Given the description of an element on the screen output the (x, y) to click on. 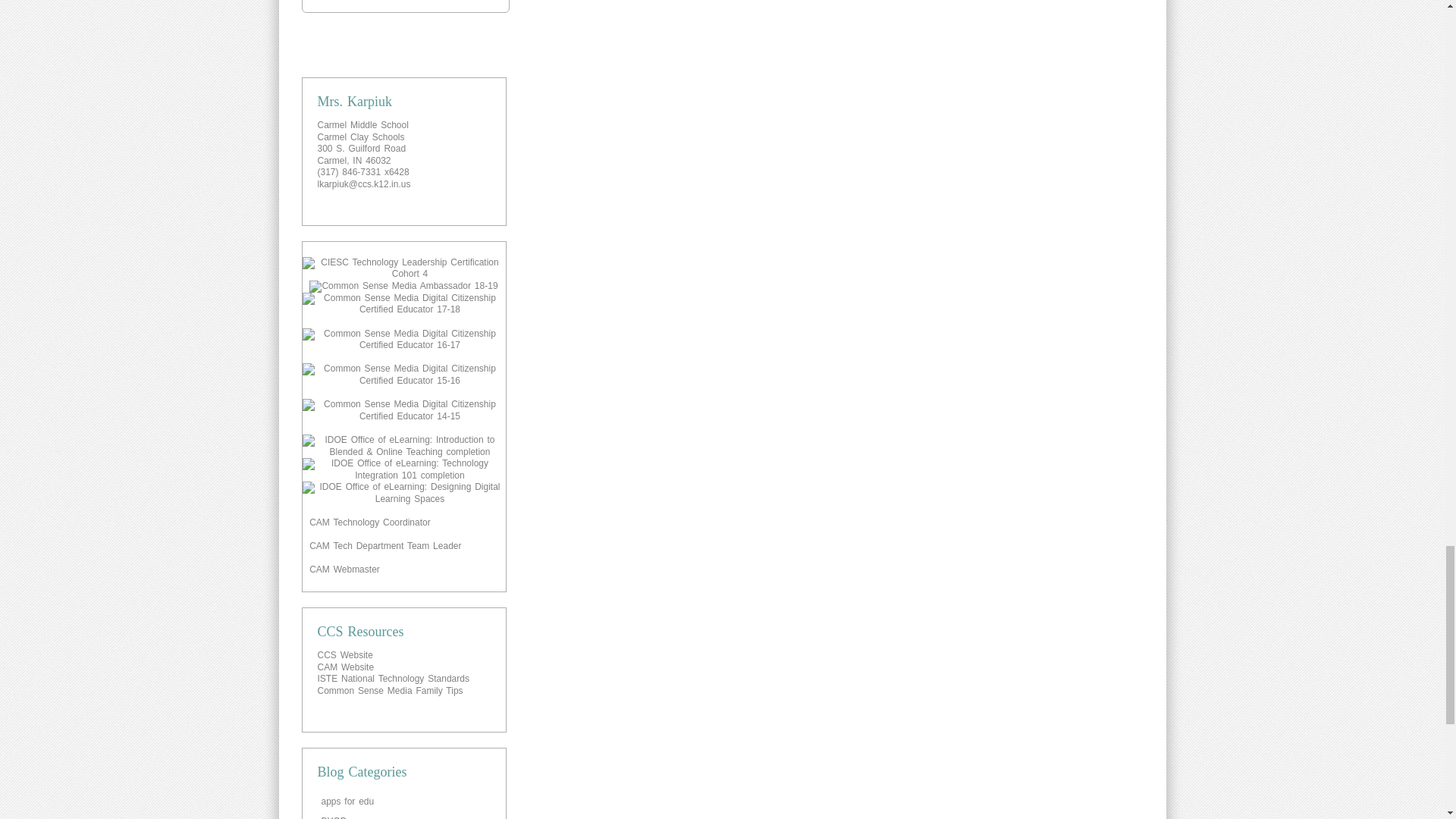
Post Comment (405, 6)
Post Comment (405, 6)
Carmel Middle School (362, 124)
